Given the description of an element on the screen output the (x, y) to click on. 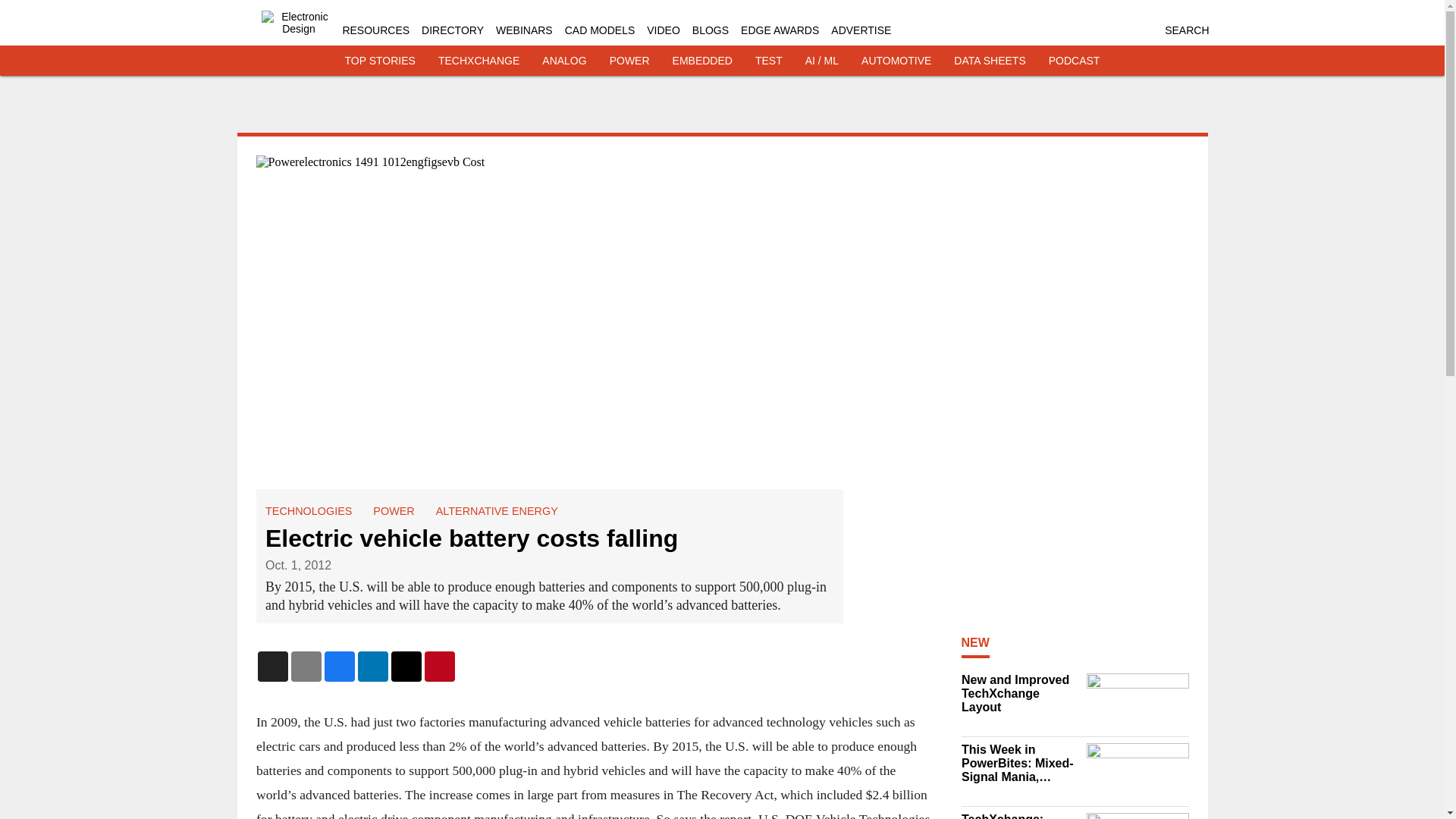
EMBEDDED (702, 60)
CAD MODELS (599, 30)
TEST (769, 60)
TOP STORIES (379, 60)
ADVERTISE (861, 30)
BLOGS (711, 30)
WEBINARS (524, 30)
POWER (392, 510)
VIDEO (662, 30)
PODCAST (1074, 60)
TECHNOLOGIES (308, 510)
DIRECTORY (452, 30)
EDGE AWARDS (779, 30)
